Given the description of an element on the screen output the (x, y) to click on. 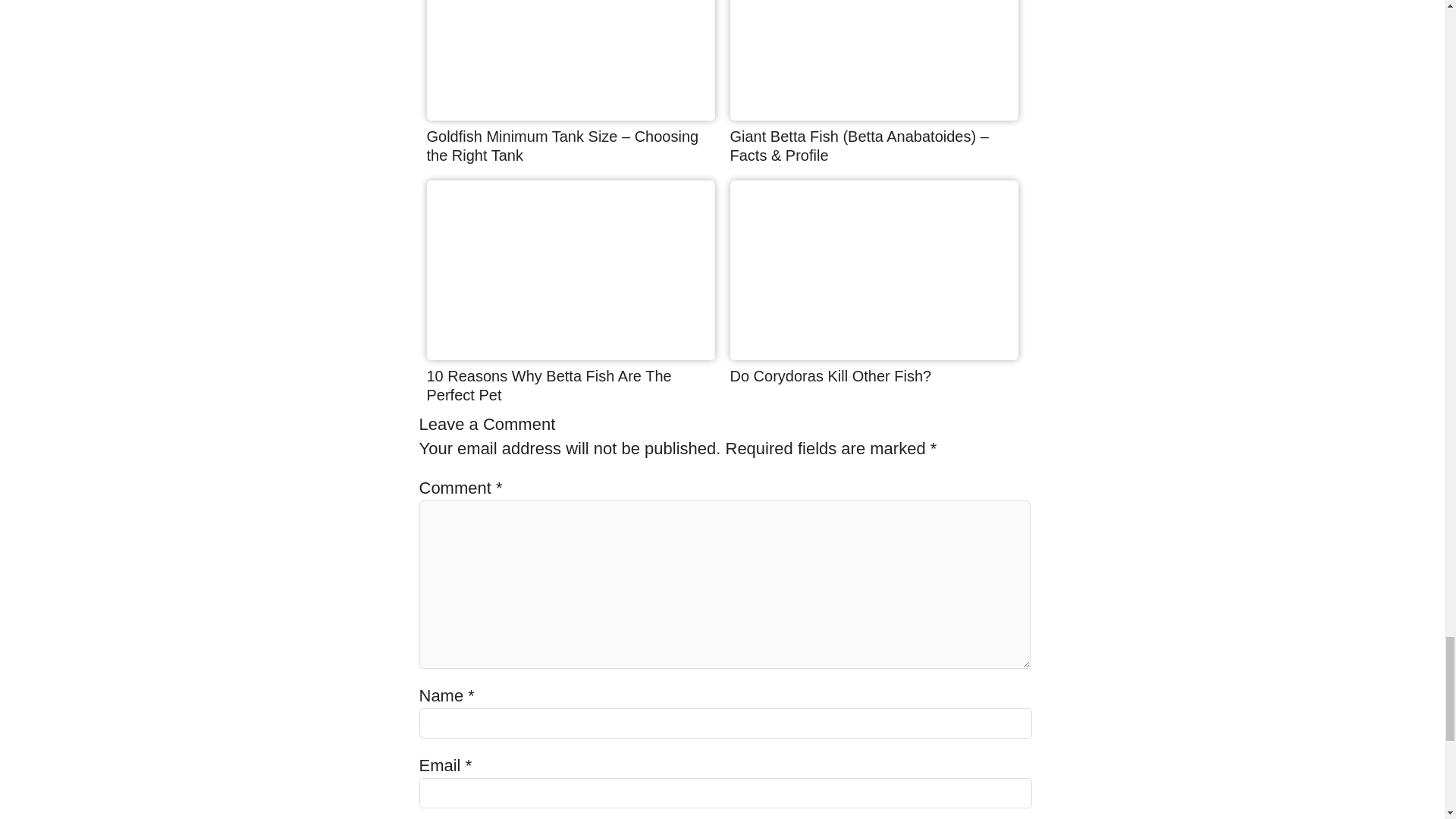
10 Reasons Why Betta Fish Are The Perfect Pet (570, 353)
10 Reasons Why Betta Fish Are The Perfect Pet (548, 385)
Do Corydoras Kill Other Fish? (830, 375)
Do Corydoras Kill Other Fish? (873, 353)
10 Reasons Why Betta Fish Are The Perfect Pet (548, 385)
